Given the description of an element on the screen output the (x, y) to click on. 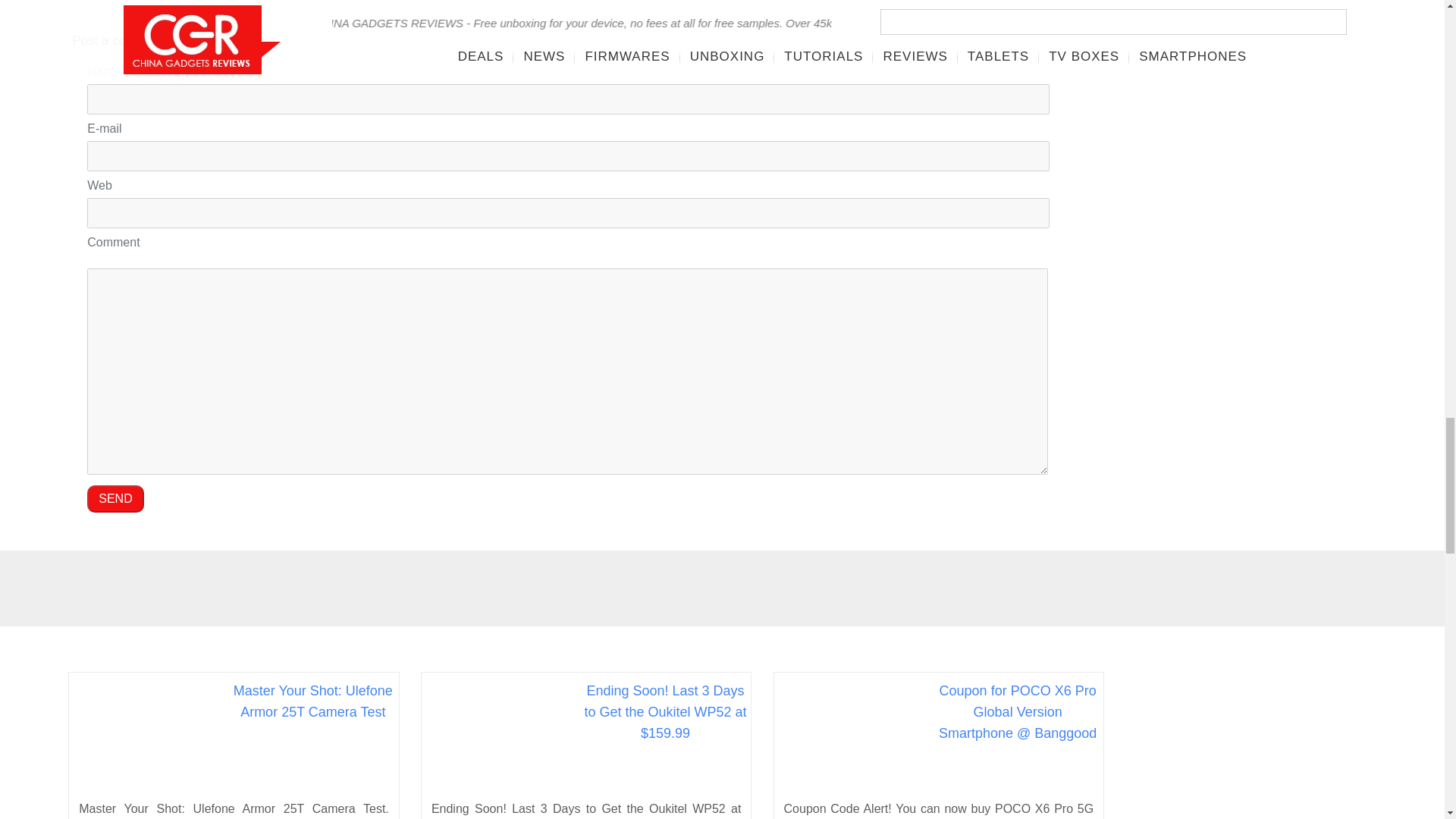
SEND (114, 498)
Master Your Shot: Ulefone Armor 25T Camera Test (312, 701)
SEND (114, 498)
